Given the description of an element on the screen output the (x, y) to click on. 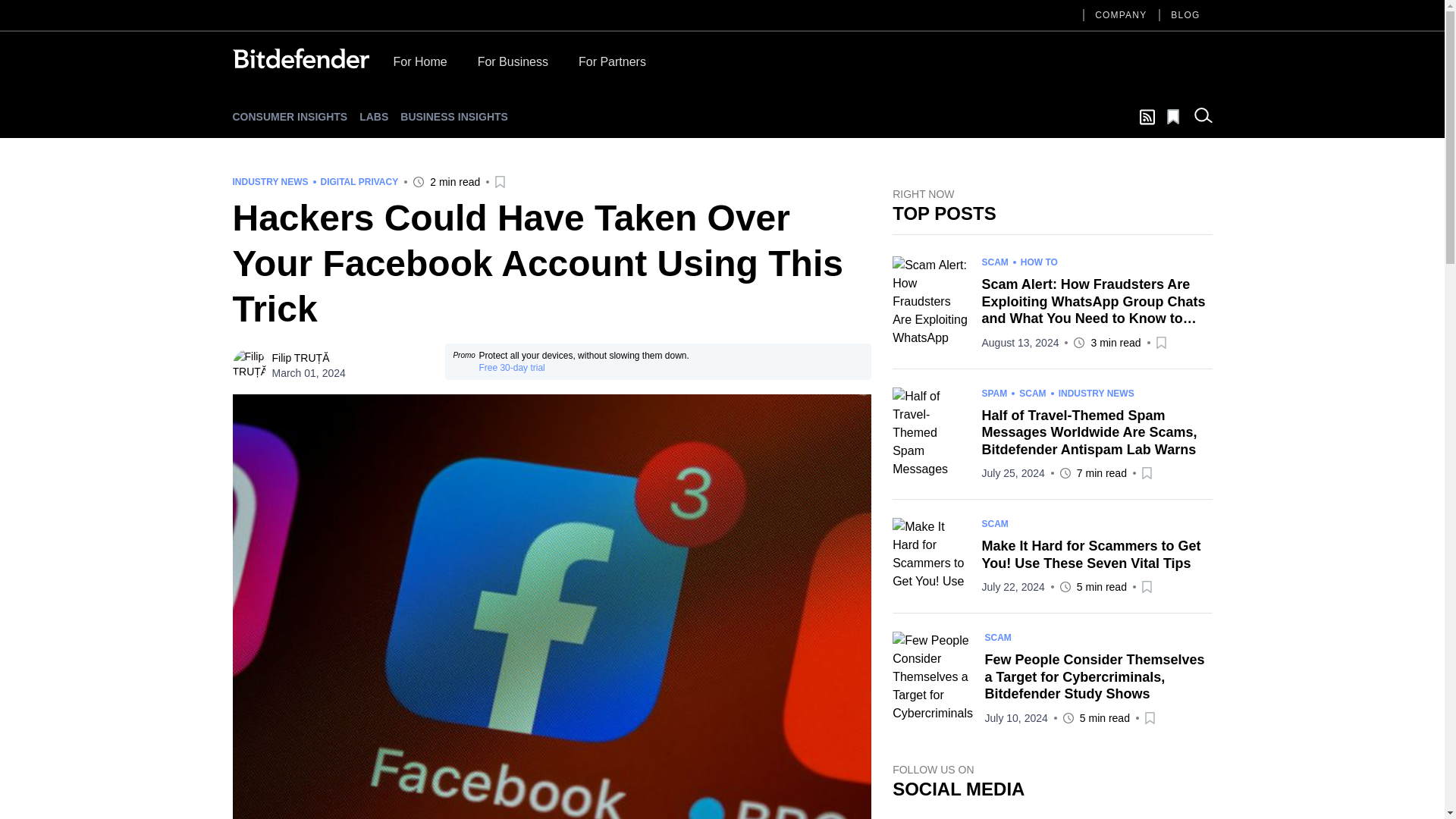
INDUSTRY NEWS (1096, 392)
Bitdefender (299, 57)
For Home (419, 64)
SCAM (994, 262)
Company (1120, 15)
Consumer Insights (289, 116)
LABS (373, 116)
